Given the description of an element on the screen output the (x, y) to click on. 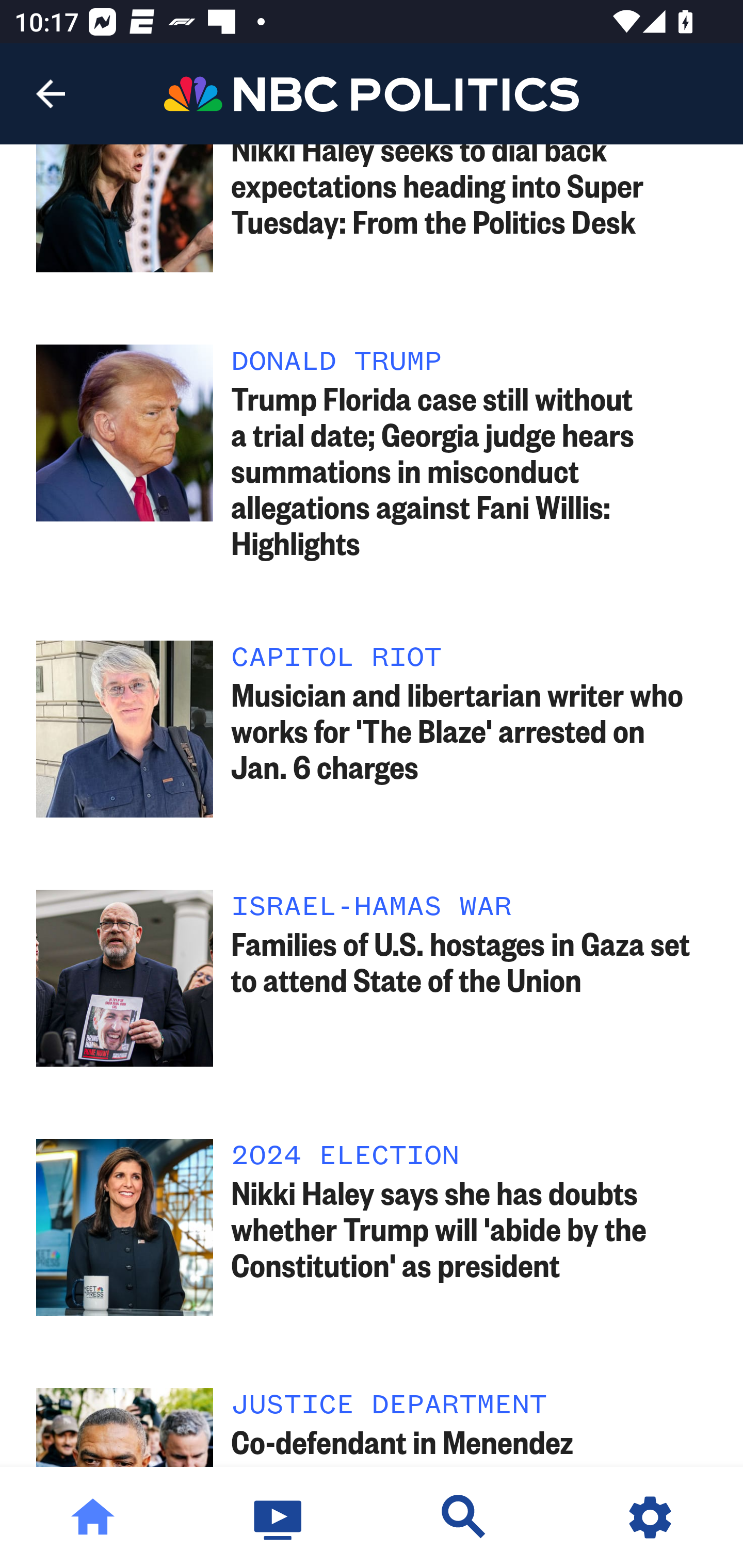
Navigate up (50, 93)
Watch (278, 1517)
Discover (464, 1517)
Settings (650, 1517)
